Given the description of an element on the screen output the (x, y) to click on. 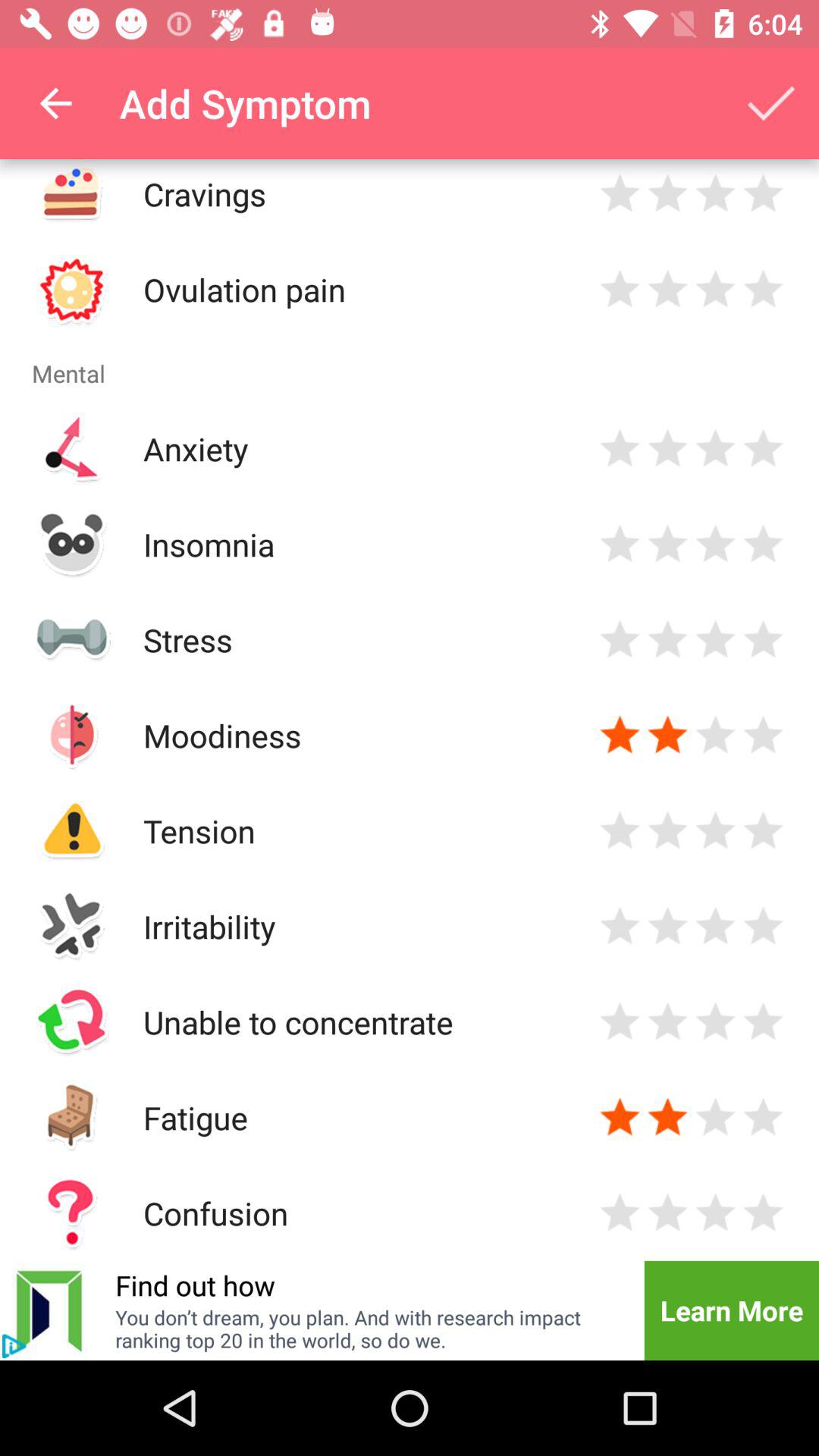
a star (619, 735)
